Given the description of an element on the screen output the (x, y) to click on. 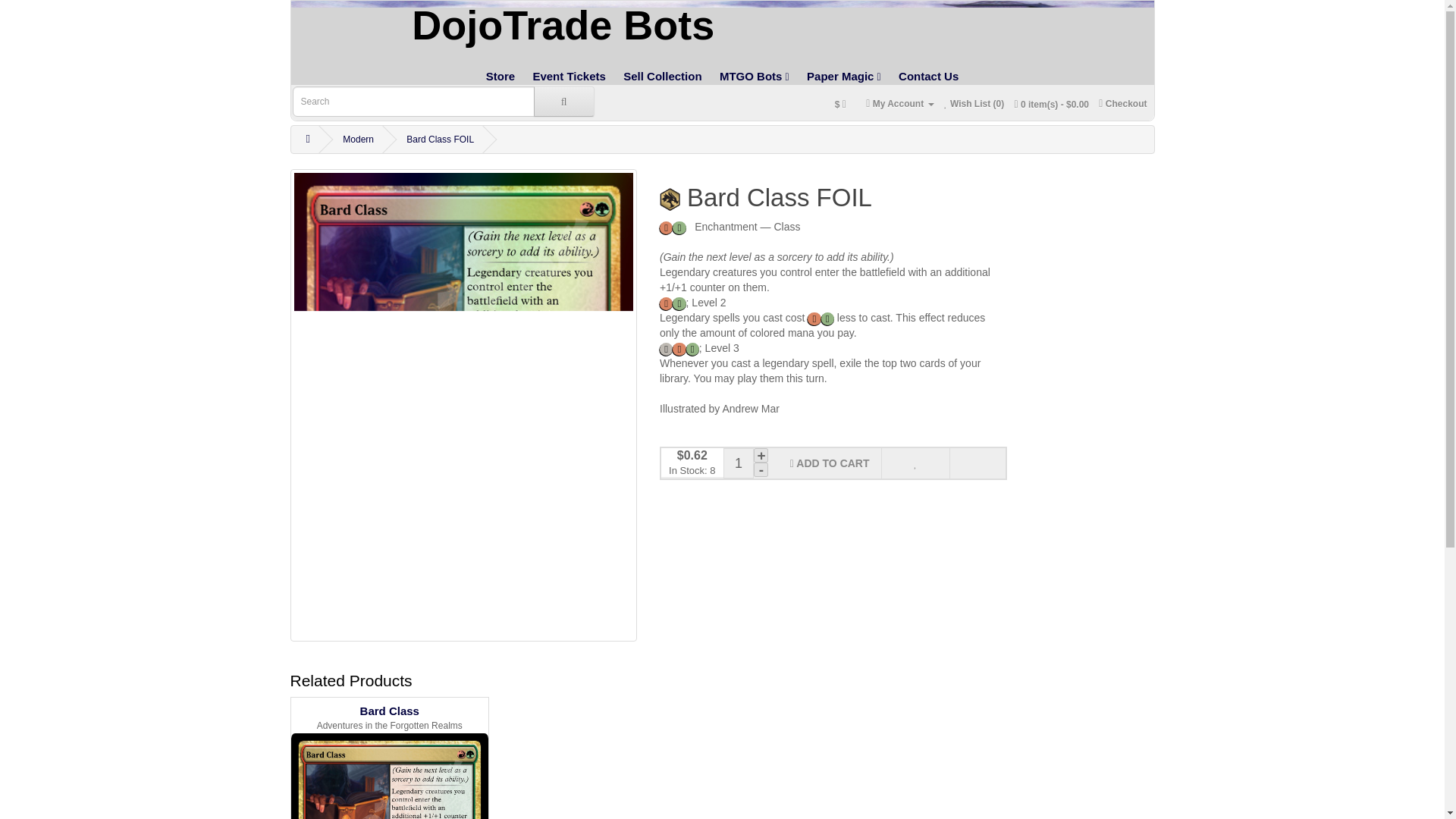
Paper Magic (843, 75)
Modern (358, 139)
- (761, 469)
ADD TO CART (828, 462)
Checkout (1123, 103)
1 (738, 462)
Adventures in the Forgotten Realms Rare (669, 199)
Event Tickets (568, 75)
Add to Wish List (915, 462)
My Account (899, 103)
